Given the description of an element on the screen output the (x, y) to click on. 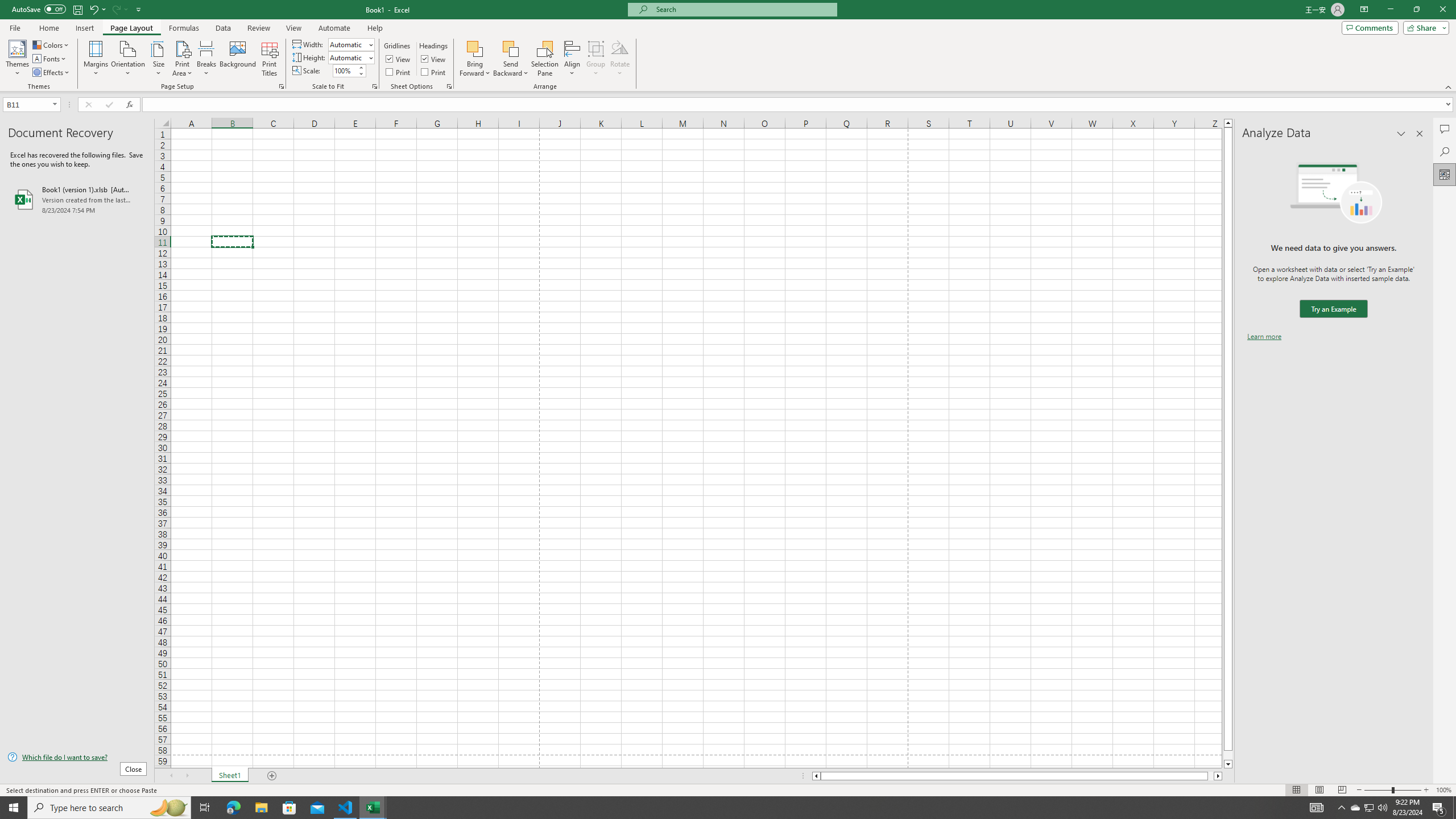
Margins (95, 58)
More (360, 67)
Analyze Data (1444, 173)
Page down (1228, 755)
Size (158, 58)
Fonts (49, 58)
Height (347, 57)
Print (434, 71)
Microsoft search (742, 9)
